Given the description of an element on the screen output the (x, y) to click on. 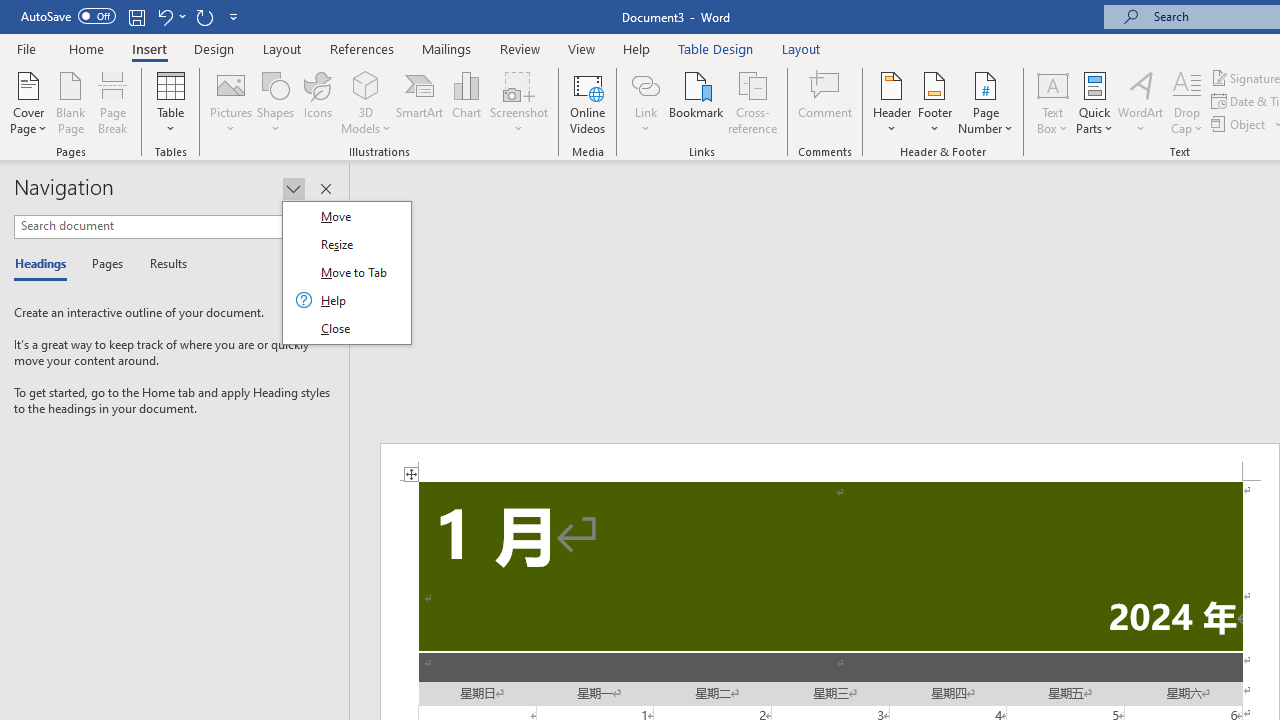
Pictures (230, 102)
Drop Cap (1187, 102)
Table Design (715, 48)
Page Number (986, 102)
Object... (1240, 124)
Table (170, 102)
